Given the description of an element on the screen output the (x, y) to click on. 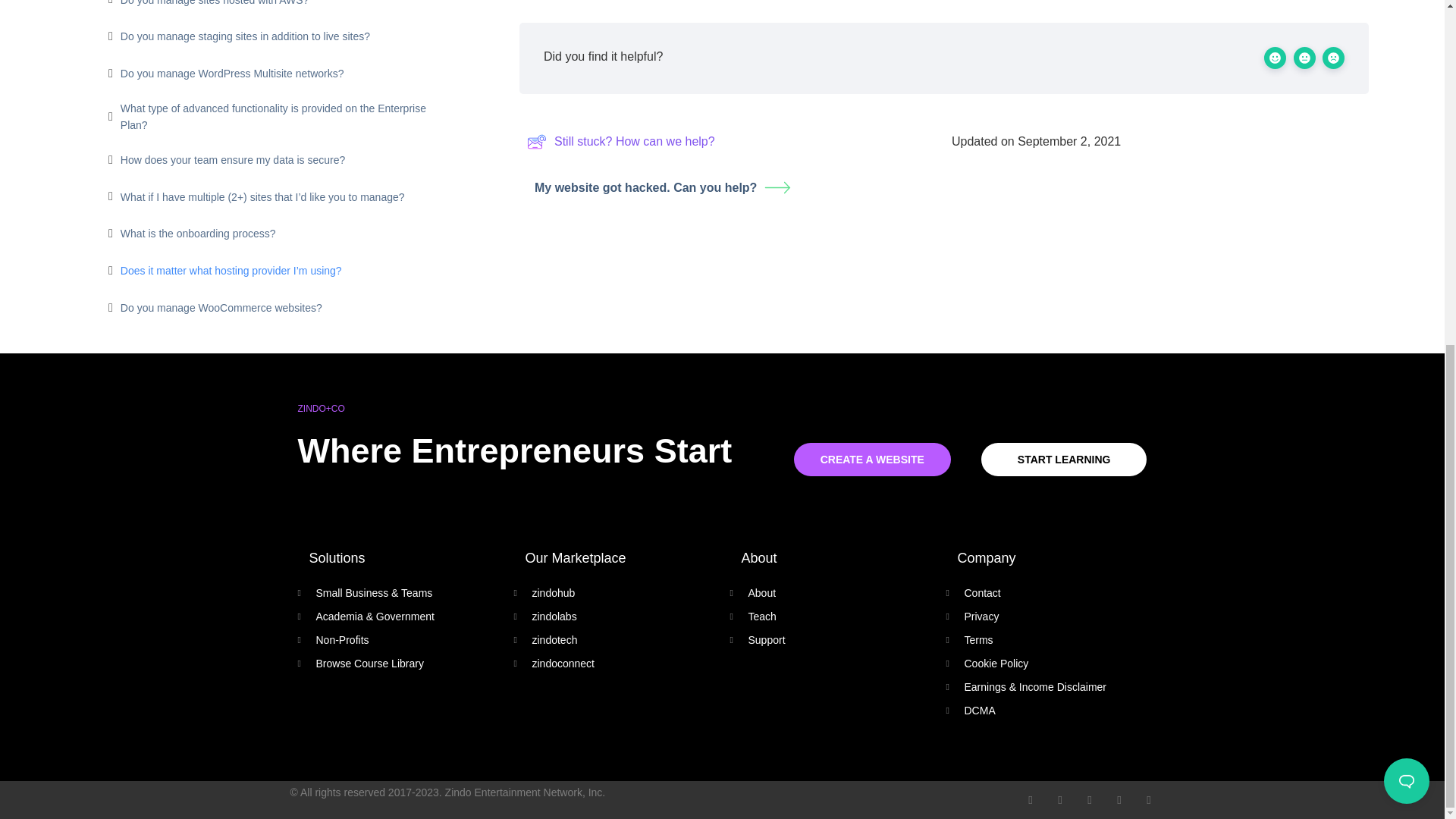
How does your team ensure my data is secure? (232, 159)
Do you manage staging sites in addition to live sites? (244, 36)
Do you manage WordPress Multisite networks? (231, 73)
Do you manage WooCommerce websites? (220, 307)
What is the onboarding process? (198, 233)
Do you manage sites hosted with AWS? (214, 4)
